Given the description of an element on the screen output the (x, y) to click on. 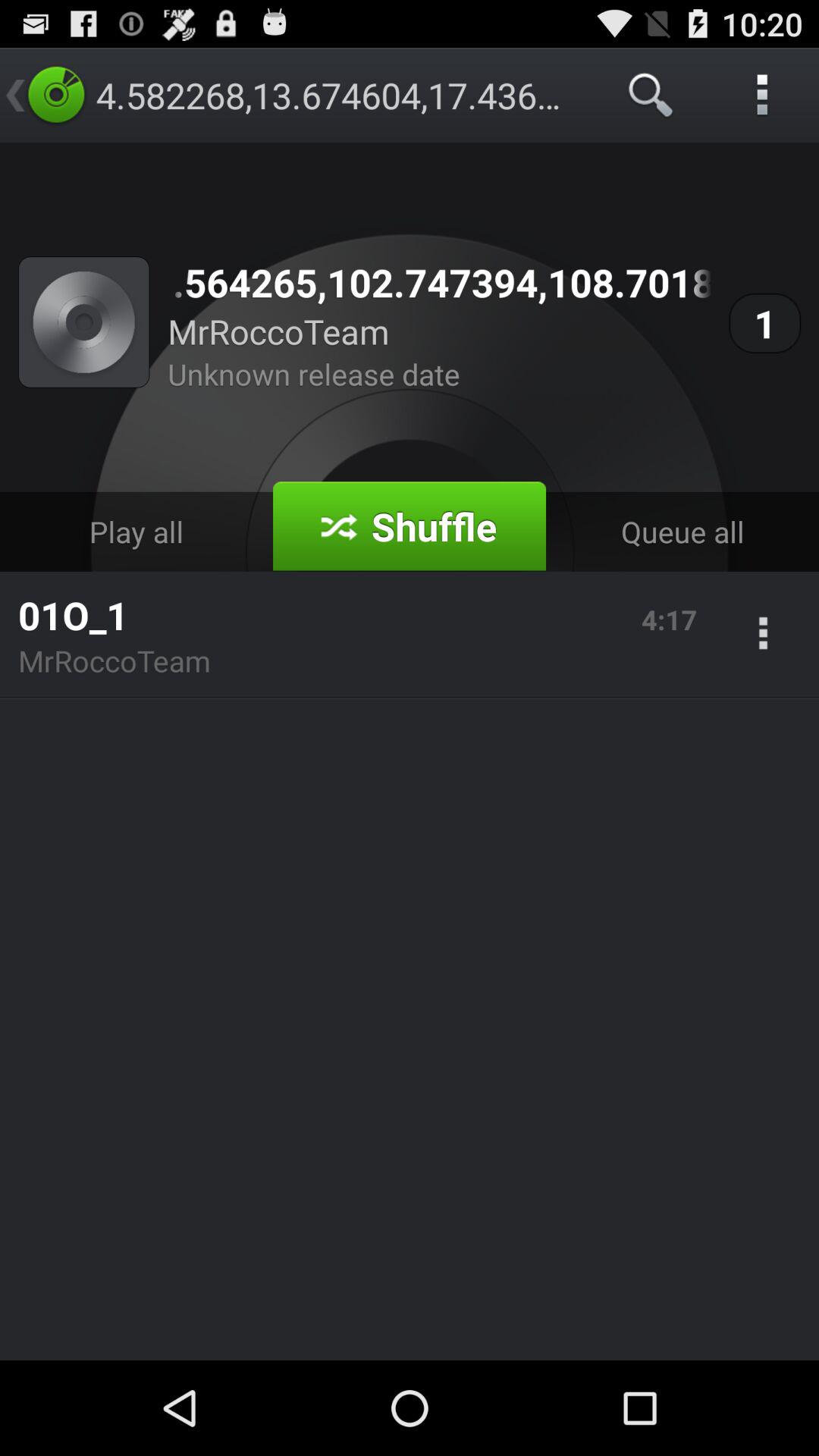
click the app to the right of the shuffle app (682, 531)
